Given the description of an element on the screen output the (x, y) to click on. 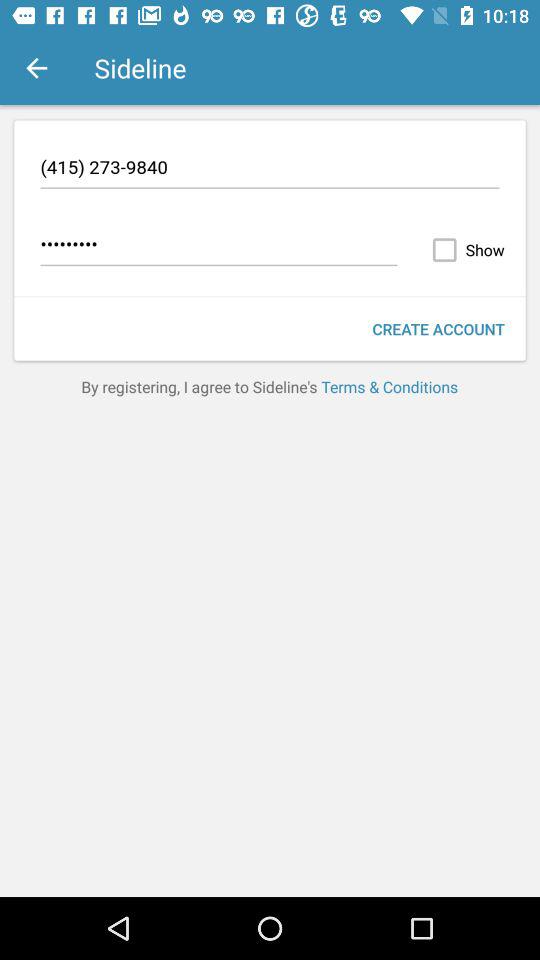
jump until show icon (463, 250)
